Given the description of an element on the screen output the (x, y) to click on. 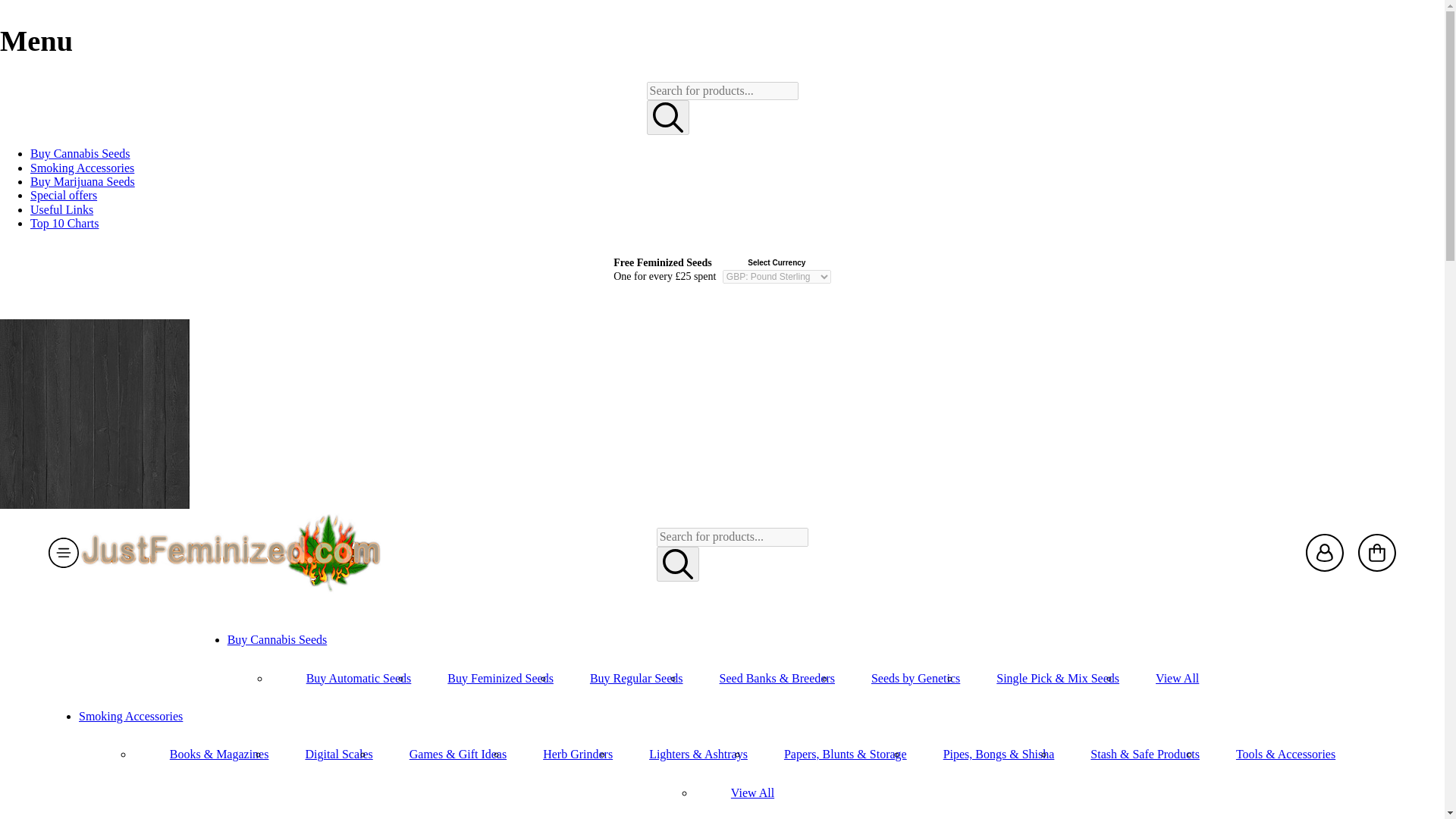
Useful Links (61, 209)
Digital Scales (338, 753)
Seeds by Genetics (914, 677)
Special offers (63, 195)
View All (1177, 677)
Smoking Accessories (81, 167)
Buy Automatic Seeds (358, 677)
Buy Regular Seeds (635, 677)
View All (752, 792)
Herb Grinders (577, 753)
